Given the description of an element on the screen output the (x, y) to click on. 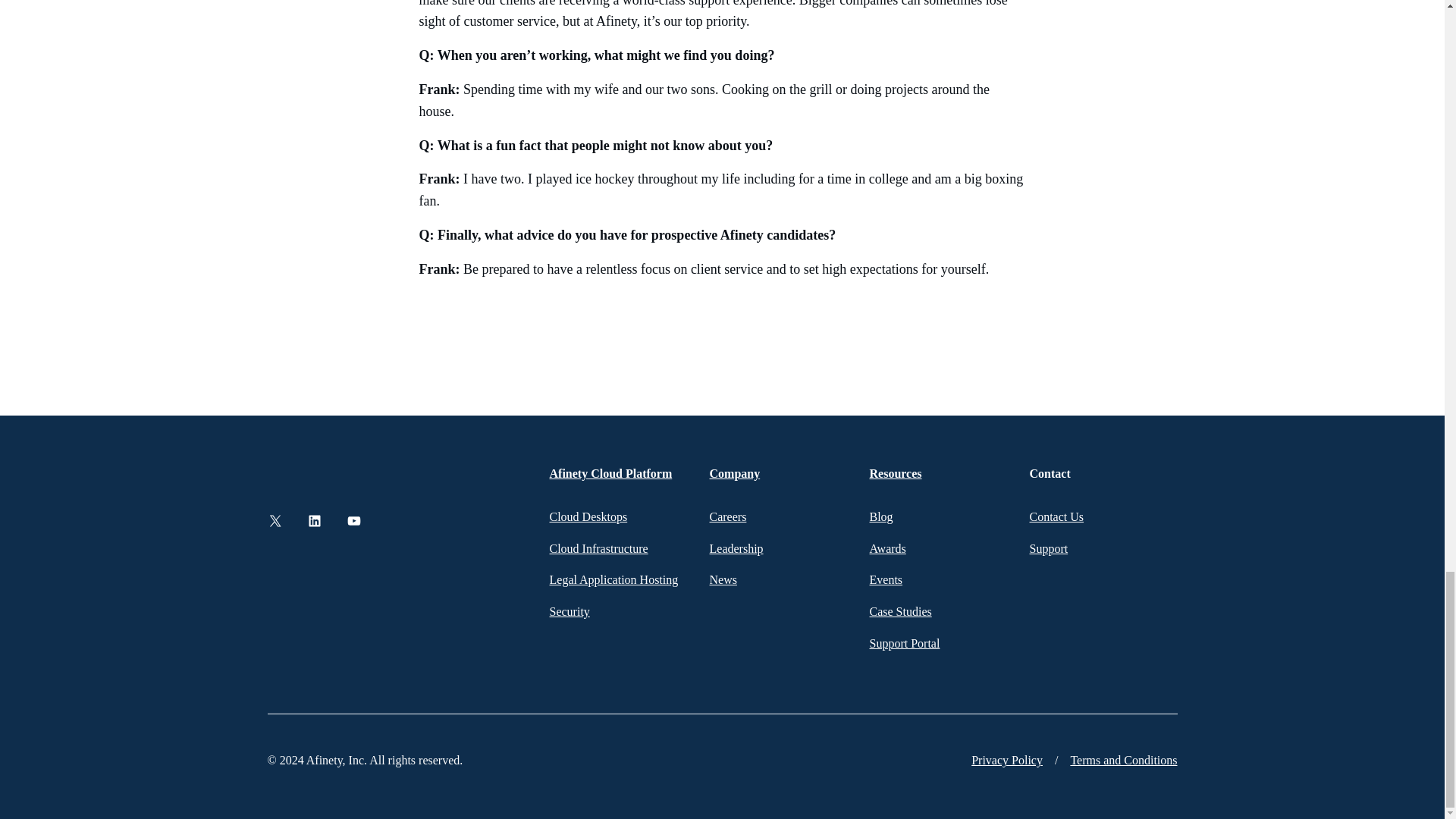
Company (735, 472)
Cloud Infrastructure (597, 548)
Resources (895, 472)
Afinety Cloud Platform (609, 472)
Cloud Desktops (587, 516)
Leadership (736, 548)
Security (568, 611)
YouTube (353, 520)
Blog (880, 516)
Awards (887, 548)
LinkedIn (313, 520)
Legal Application Hosting (613, 579)
News (723, 579)
Careers (728, 516)
